Given the description of an element on the screen output the (x, y) to click on. 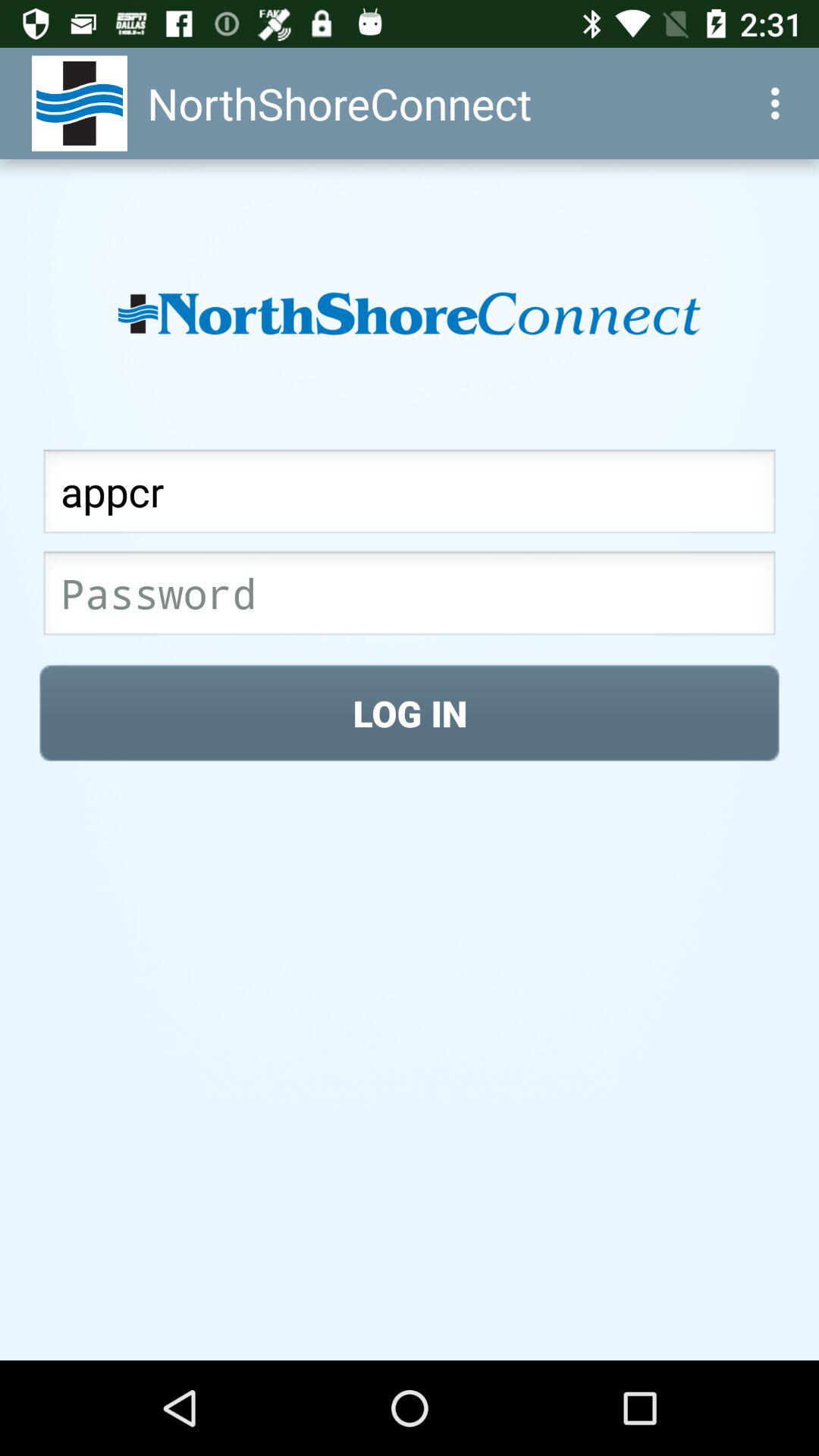
select icon next to the northshoreconnect item (779, 103)
